Given the description of an element on the screen output the (x, y) to click on. 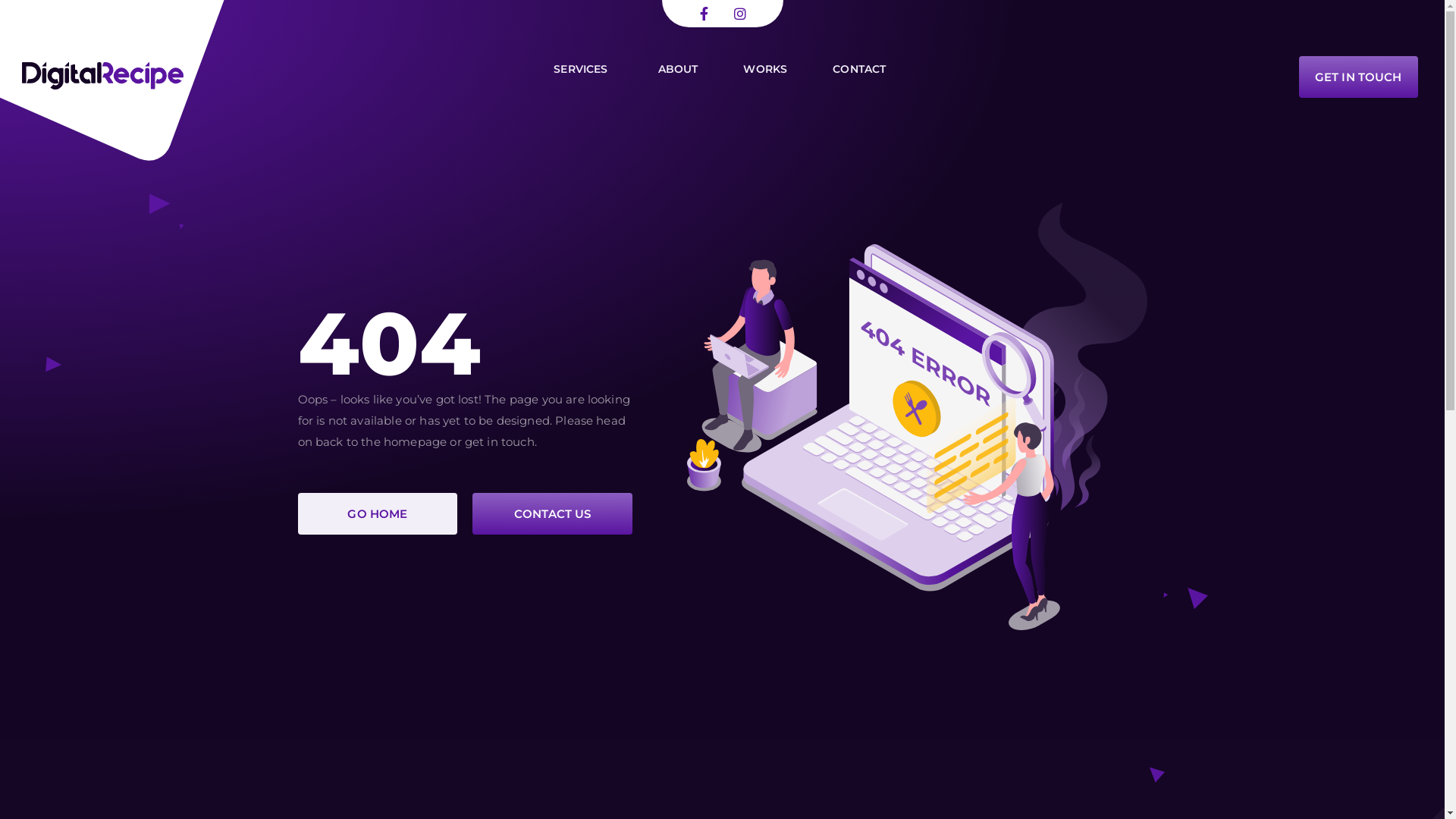
WORKS Element type: text (764, 68)
GET IN TOUCH Element type: text (1358, 76)
ABOUT Element type: text (678, 68)
SERVICES Element type: text (582, 68)
CONTACT US Element type: text (552, 513)
CONTACT Element type: text (859, 68)
GO HOME Element type: text (377, 513)
